Given the description of an element on the screen output the (x, y) to click on. 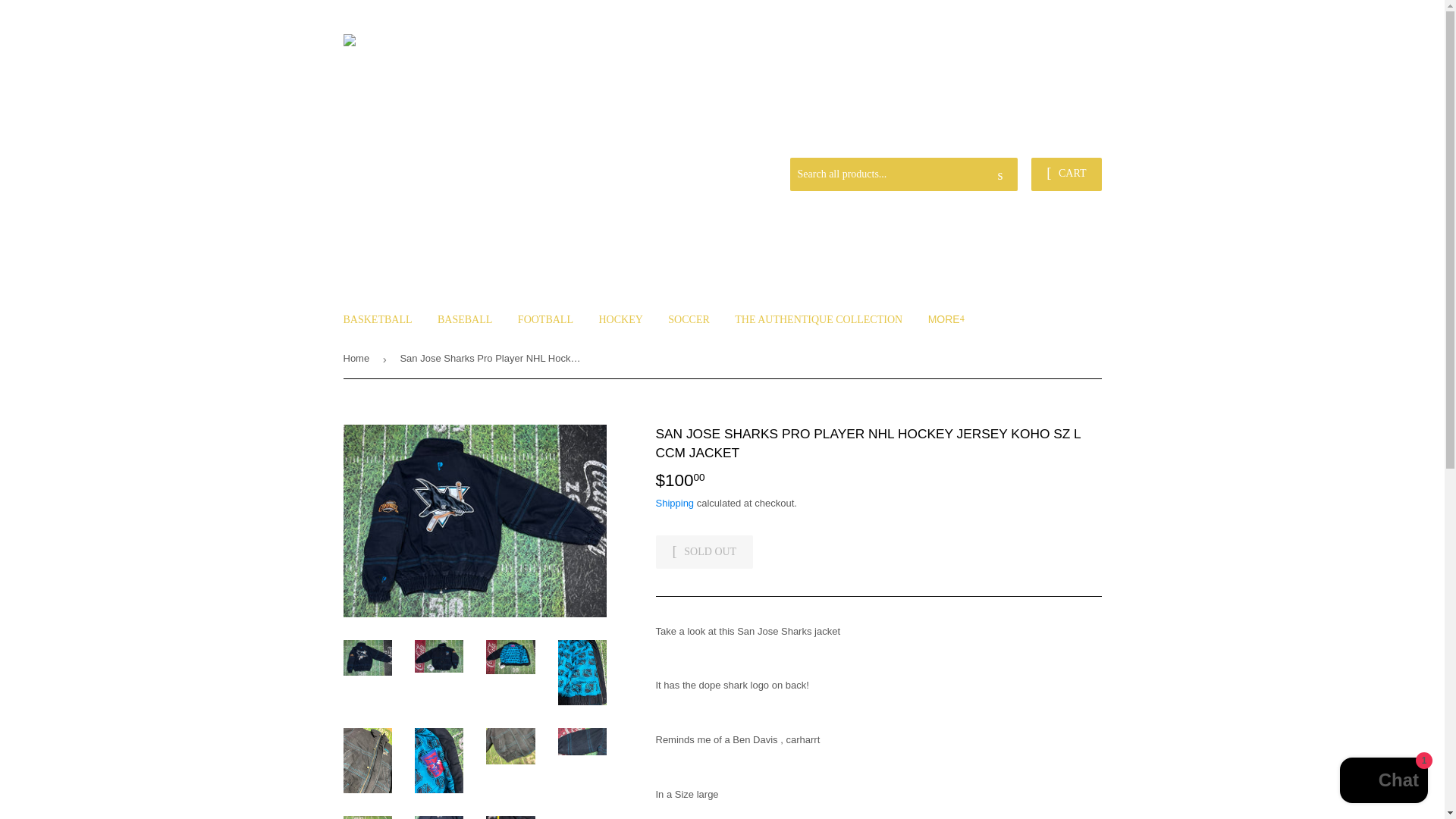
Shopify online store chat (1383, 781)
Create an Account (1063, 139)
SOCCER (688, 319)
Sign in (993, 139)
HOCKEY (619, 319)
BASKETBALL (377, 319)
15 PERCENT OFF ON OTTO (1034, 126)
Search (1000, 174)
CART (1065, 174)
FOOTBALL (545, 319)
MORE (946, 319)
BASEBALL (464, 319)
Back to the frontpage (358, 358)
THE AUTHENTIQUE COLLECTION (818, 319)
